Given the description of an element on the screen output the (x, y) to click on. 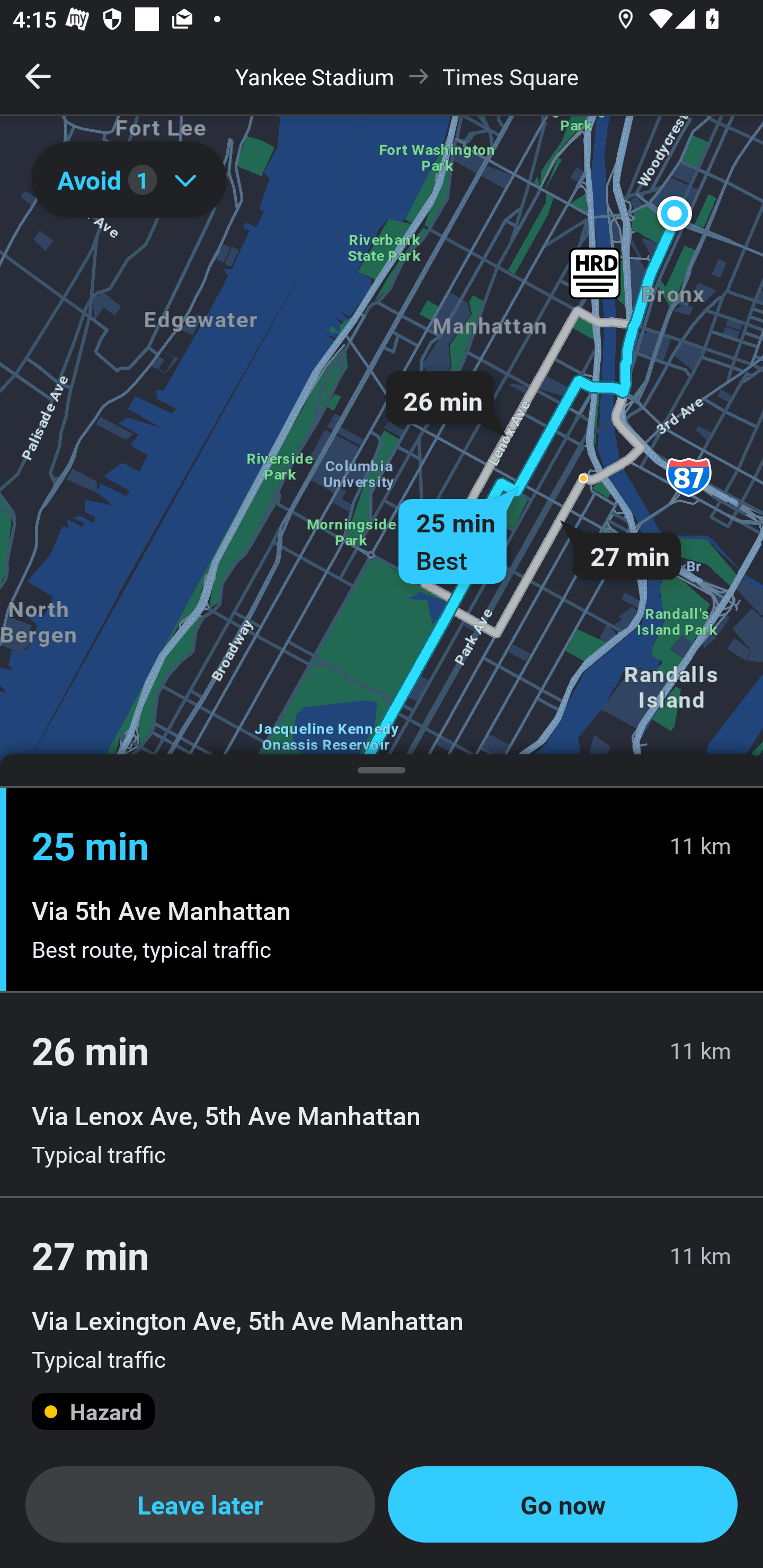
Leave later (200, 1504)
Go now (562, 1504)
